Given the description of an element on the screen output the (x, y) to click on. 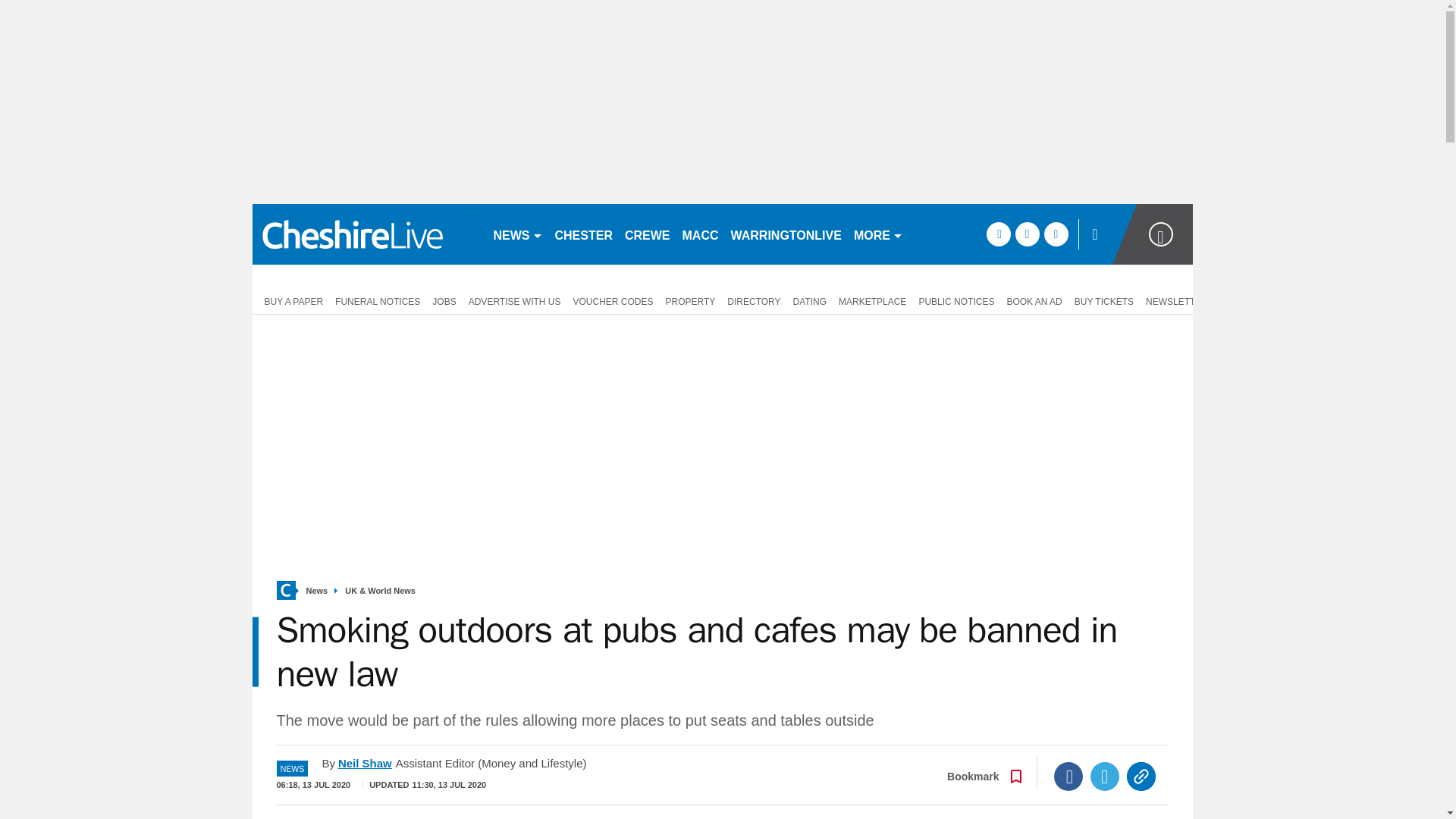
MORE (877, 233)
WARRINGTONLIVE (786, 233)
instagram (1055, 233)
CHESTER (583, 233)
facebook (997, 233)
Twitter (1104, 776)
chesterchronicle (365, 233)
twitter (1026, 233)
CREWE (647, 233)
MACC (701, 233)
Facebook (1068, 776)
NEWS (517, 233)
